Given the description of an element on the screen output the (x, y) to click on. 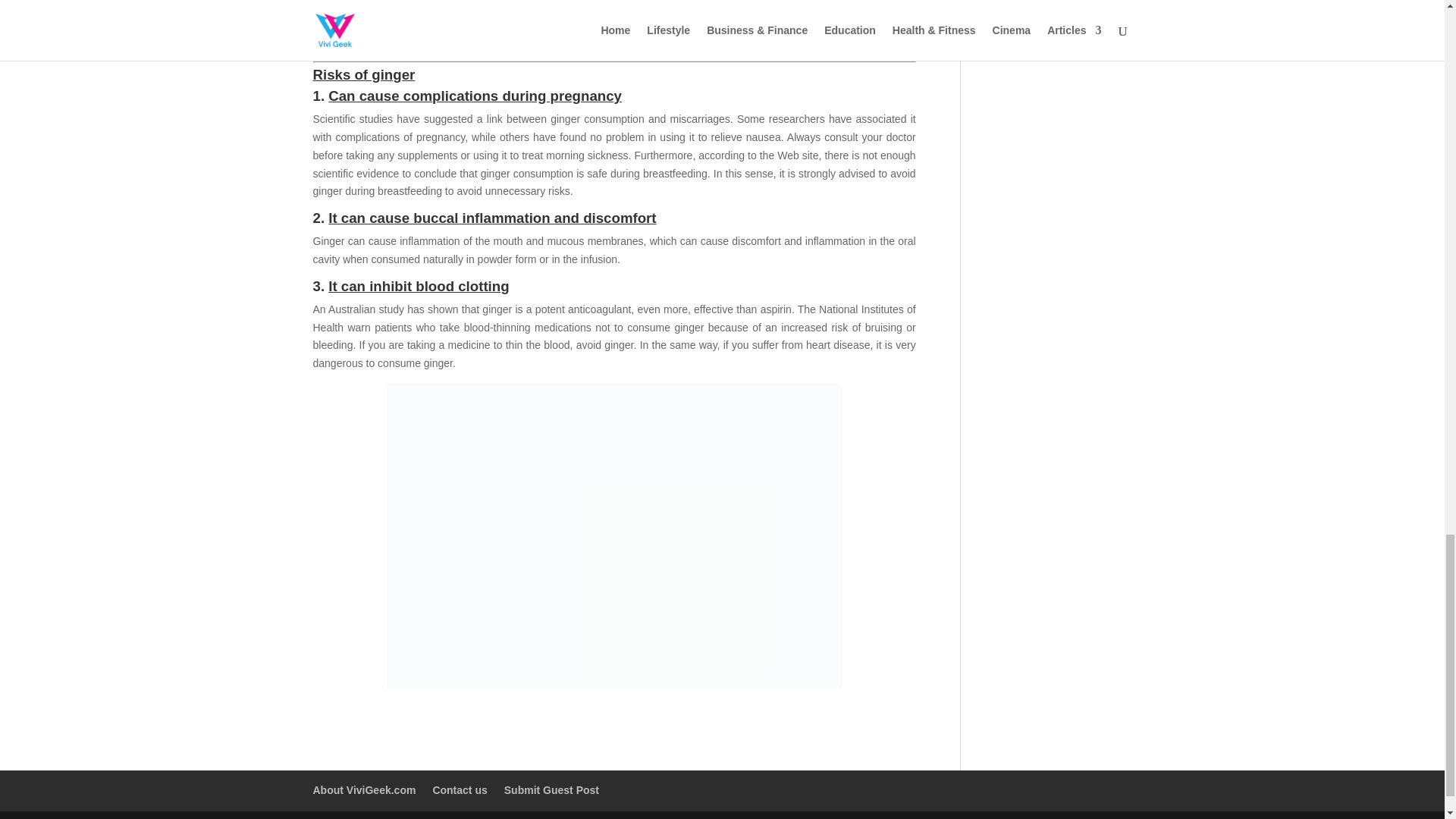
Ginger: Health Benefits, Facts, and Side Effects 1 (614, 22)
About ViviGeek.com (363, 789)
Contact us (459, 789)
Submit Guest Post (550, 789)
